Given the description of an element on the screen output the (x, y) to click on. 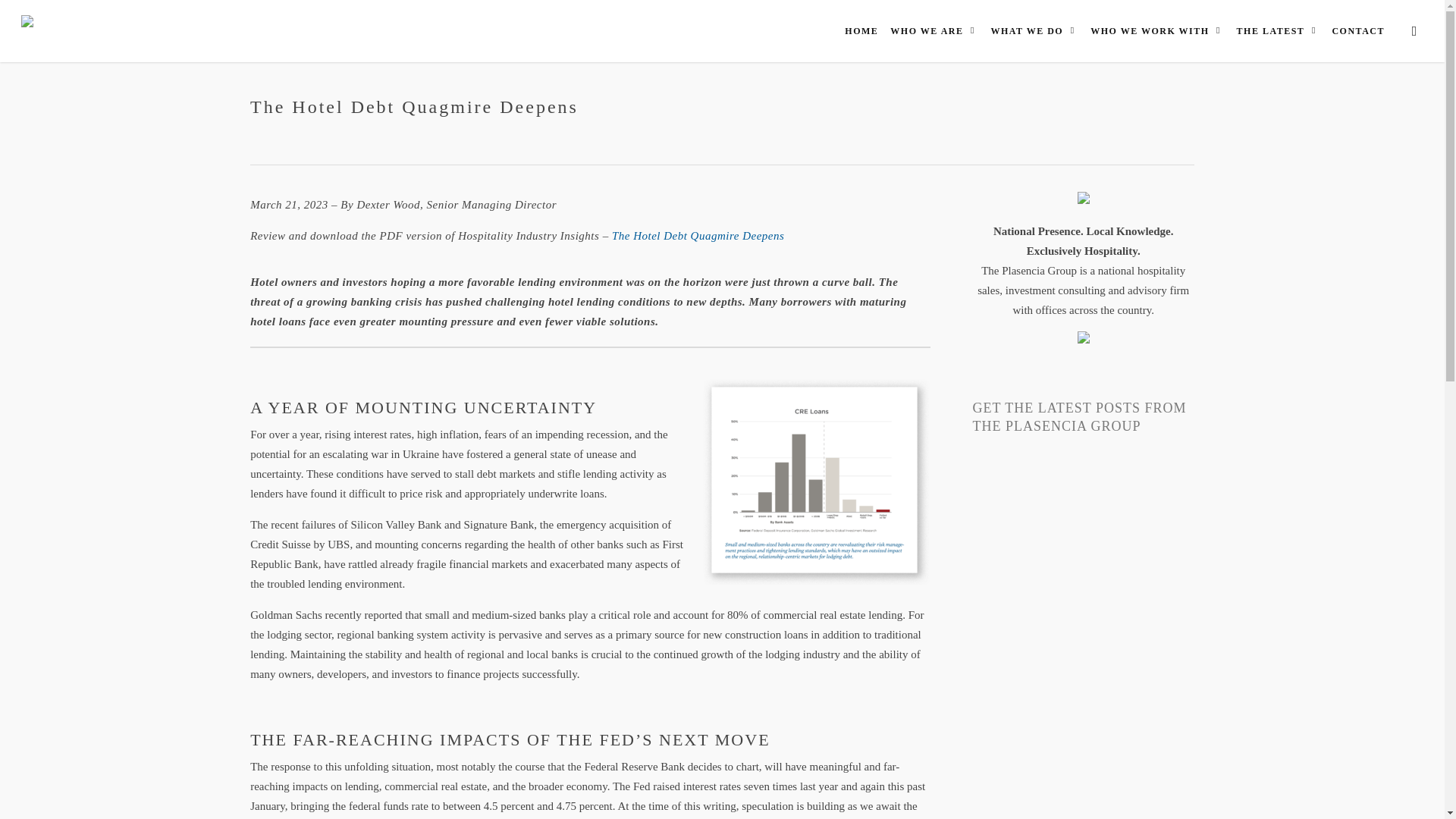
The Hotel Debt Quagmire Deepens (697, 235)
WHAT WE DO (1034, 30)
CONTACT (1357, 30)
HOME (860, 30)
WHO WE ARE (933, 30)
WHO WE WORK WITH (1157, 30)
THE LATEST (1278, 30)
search (1414, 30)
